Given the description of an element on the screen output the (x, y) to click on. 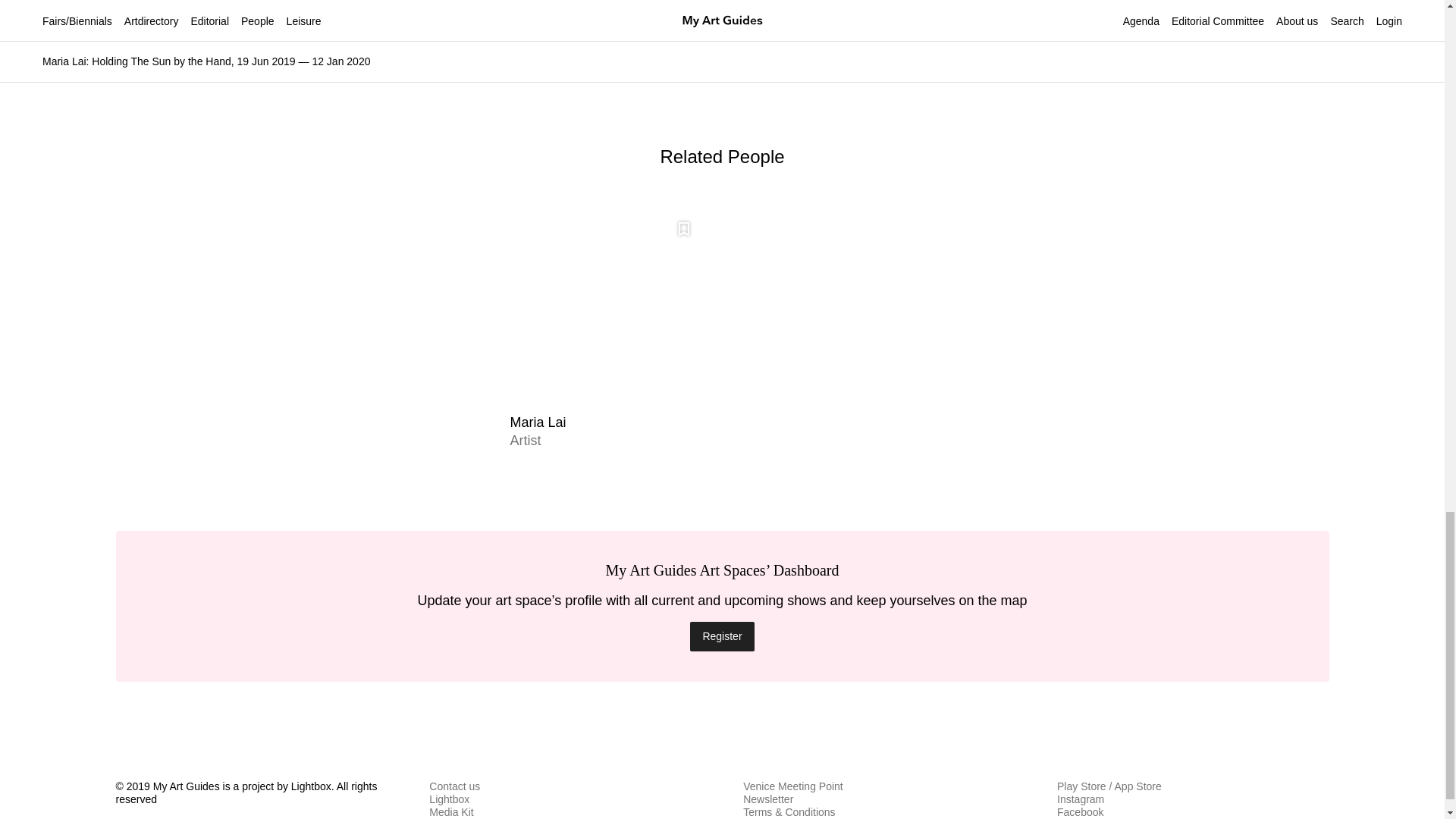
Contact us (454, 786)
Play Store (1081, 786)
Facebook (1080, 811)
Register (722, 636)
Newsletter (767, 799)
Media Kit (451, 811)
Lightbox (448, 799)
Venice Meeting Point (792, 786)
Instagram (1080, 799)
App Store (1138, 786)
